Given the description of an element on the screen output the (x, y) to click on. 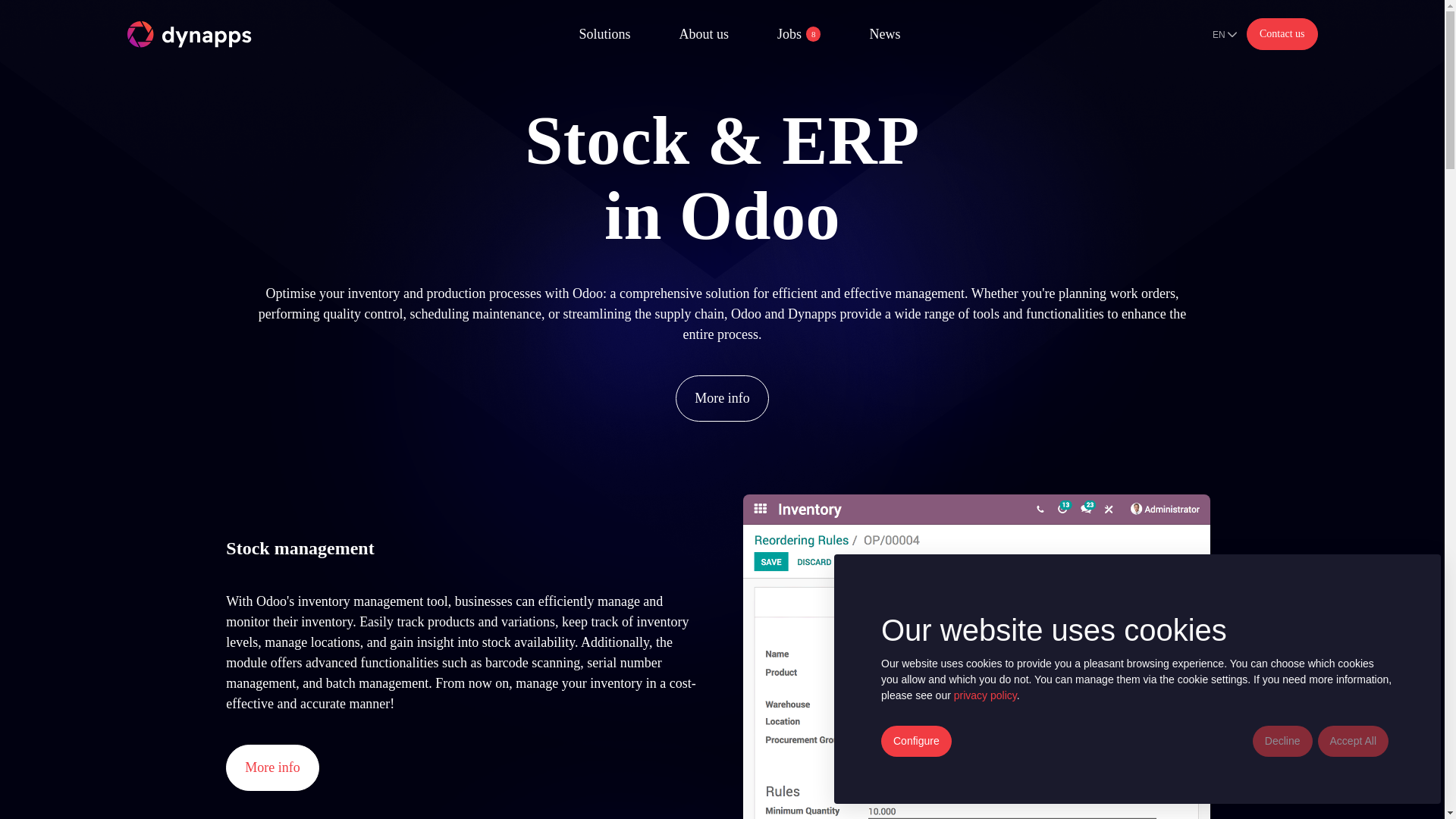
News (884, 34)
Solutions (604, 34)
Dynapps (799, 34)
EN (189, 34)
Contact us (1224, 34)
More info (1281, 33)
About us (271, 767)
More info (703, 34)
